Given the description of an element on the screen output the (x, y) to click on. 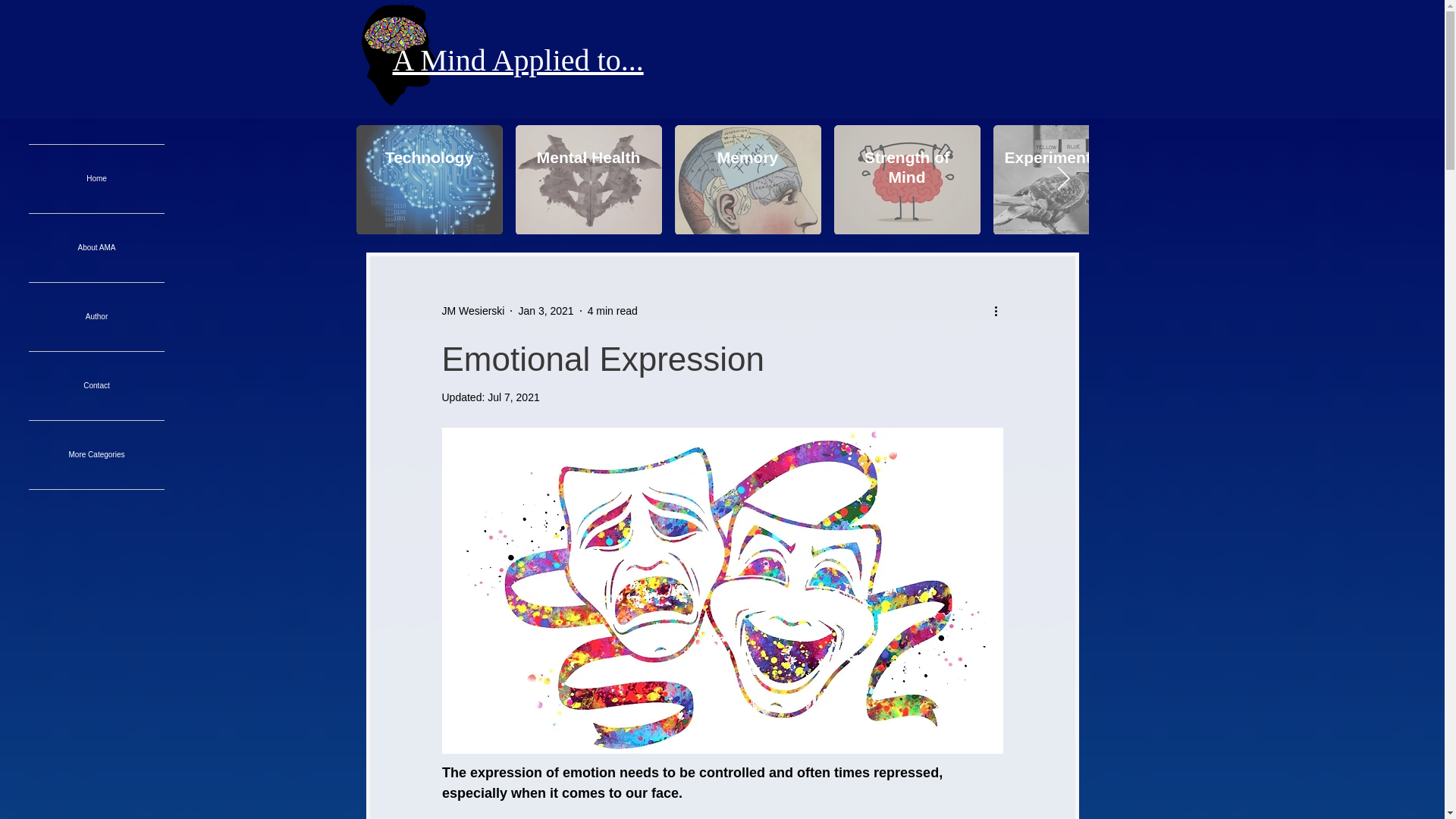
More Categories (96, 454)
Author (96, 316)
4 min read (612, 310)
A Mind Applied to... (518, 59)
About AMA (96, 247)
Jan 3, 2021 (545, 310)
Home (96, 178)
JM Wesierski (472, 311)
